Given the description of an element on the screen output the (x, y) to click on. 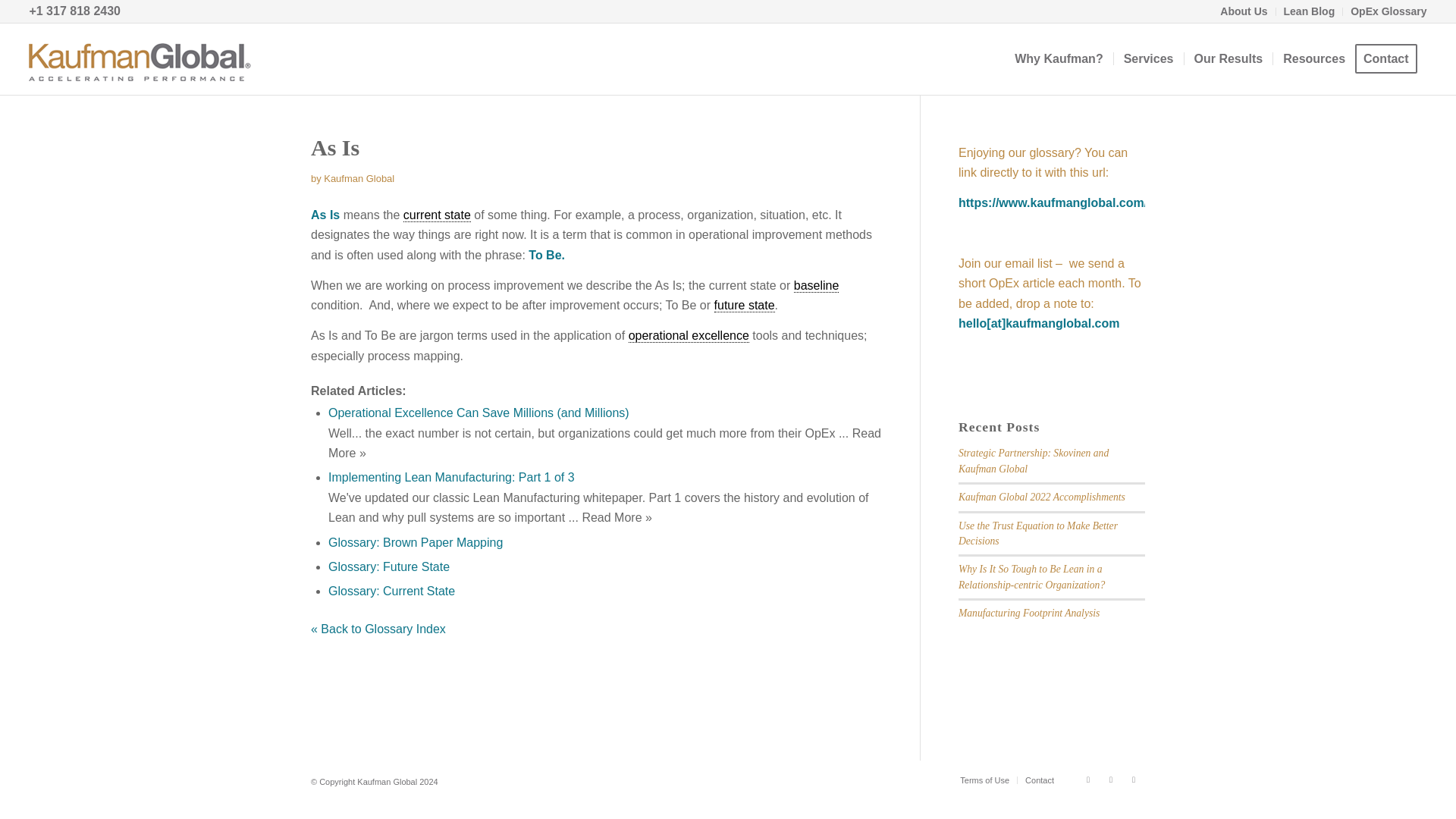
As Is (335, 147)
current state (436, 214)
Glossary: Brown Paper Mapping (415, 542)
Kaufman Global (358, 178)
Rss (1133, 779)
Linkedin (1088, 779)
Permanent Link: As Is (335, 147)
About Us (1243, 11)
Our Results (1227, 58)
Services (1148, 58)
Resources (1313, 58)
future state (744, 305)
baseline (816, 285)
operational excellence (688, 336)
Contact (1390, 58)
